Given the description of an element on the screen output the (x, y) to click on. 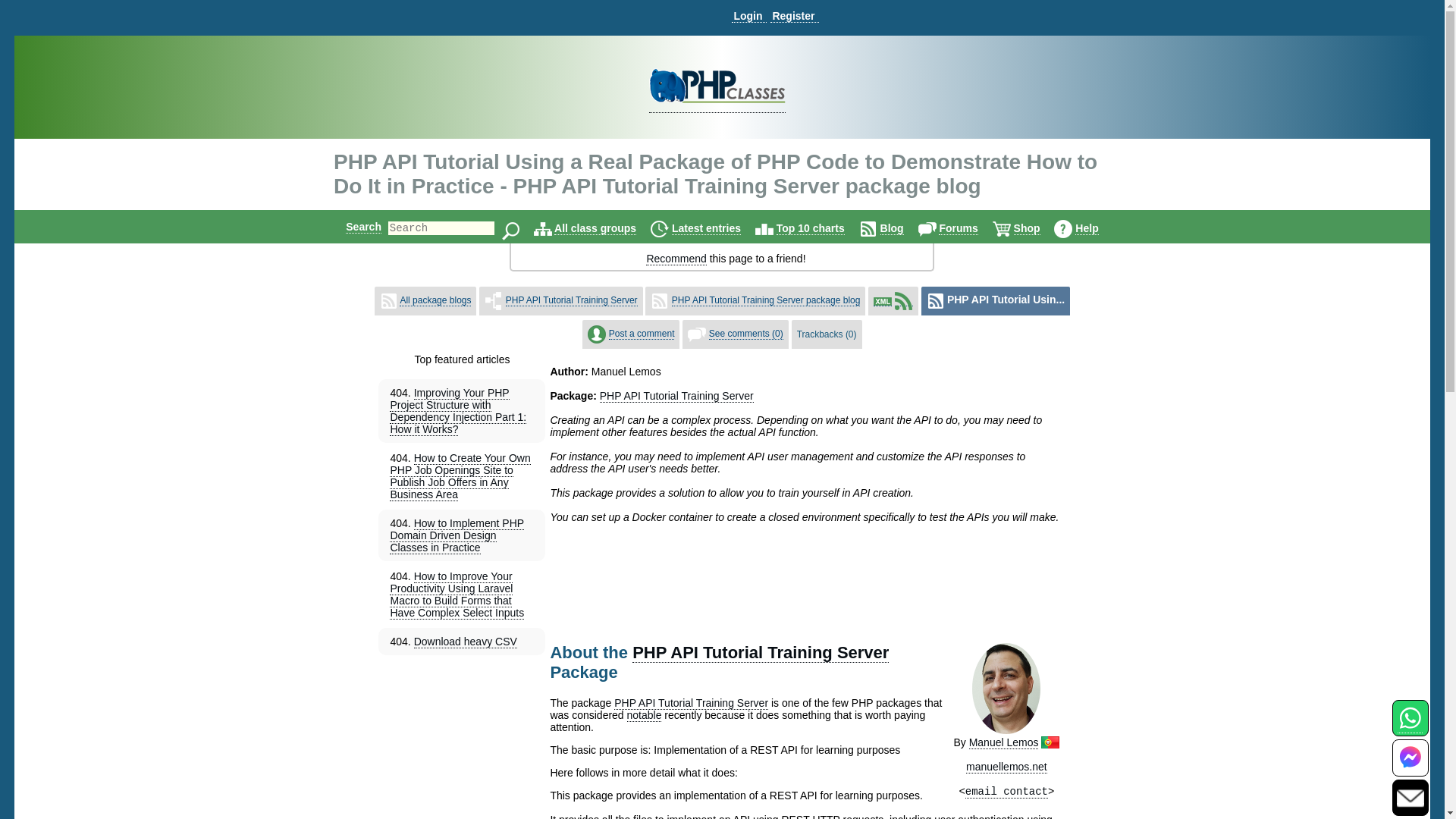
Contact us using WhatsApp (1409, 726)
Blog (892, 228)
PHP API Tutorial Training Server (691, 702)
All class groups (595, 228)
Register (794, 15)
Forums (957, 228)
Help (1086, 228)
Shop (1027, 228)
